Given the description of an element on the screen output the (x, y) to click on. 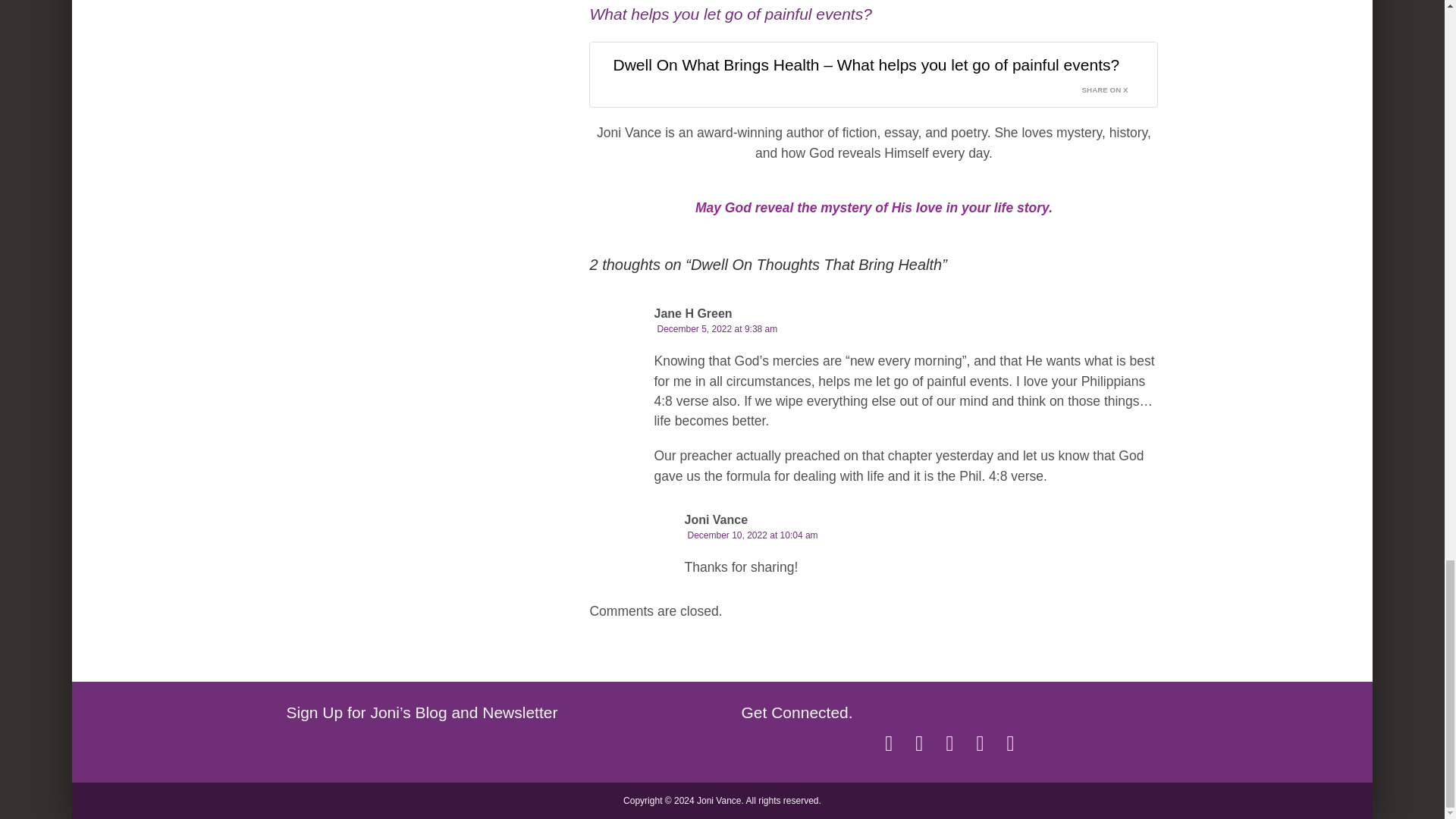
SHARE ON X (1114, 86)
December 10, 2022 at 10:04 am (751, 534)
December 5, 2022 at 9:38 am (716, 328)
